Given the description of an element on the screen output the (x, y) to click on. 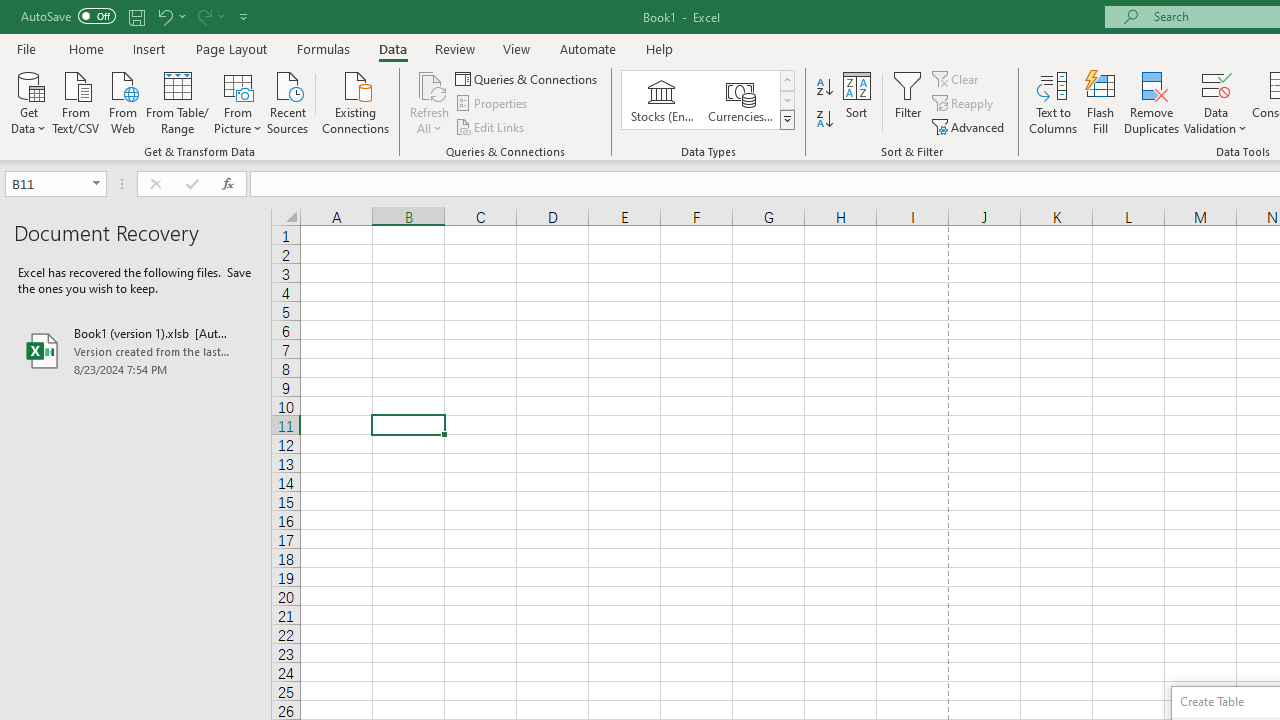
Sort... (856, 102)
Remove Duplicates (1151, 102)
Existing Connections (355, 101)
Currencies (English) (740, 100)
Recent Sources (287, 101)
From Web (122, 101)
Get Data (28, 101)
